Given the description of an element on the screen output the (x, y) to click on. 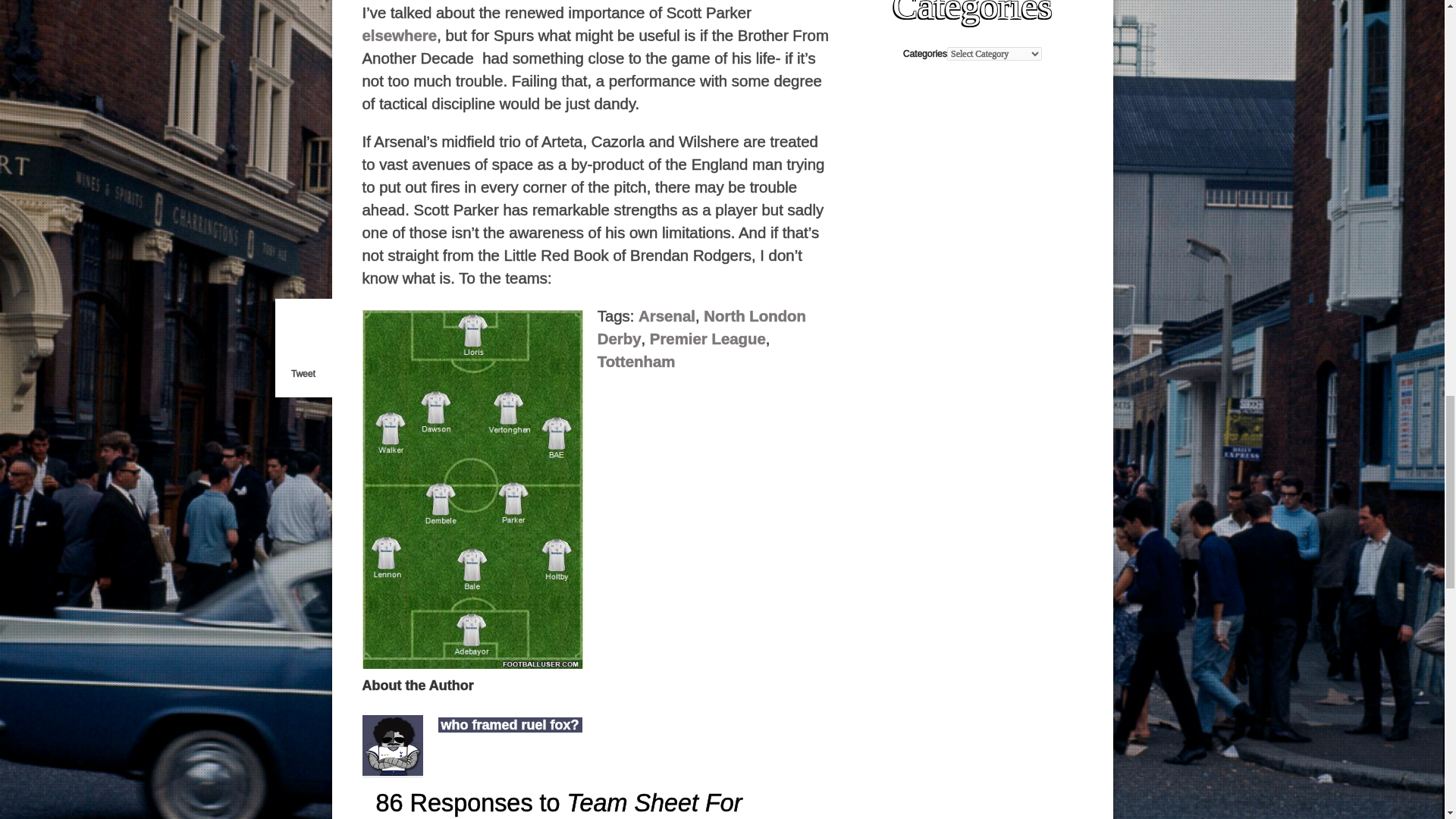
North London Derby (701, 327)
North London Derby (701, 327)
elsewhere (400, 35)
Premier League (707, 338)
Posts by who framed ruel fox? (510, 724)
Arsenal (667, 315)
Premier League (707, 338)
Arsenal (667, 315)
Tottenham (635, 361)
who framed ruel fox? (510, 724)
elsewhere (400, 35)
Tottenham (635, 361)
